Given the description of an element on the screen output the (x, y) to click on. 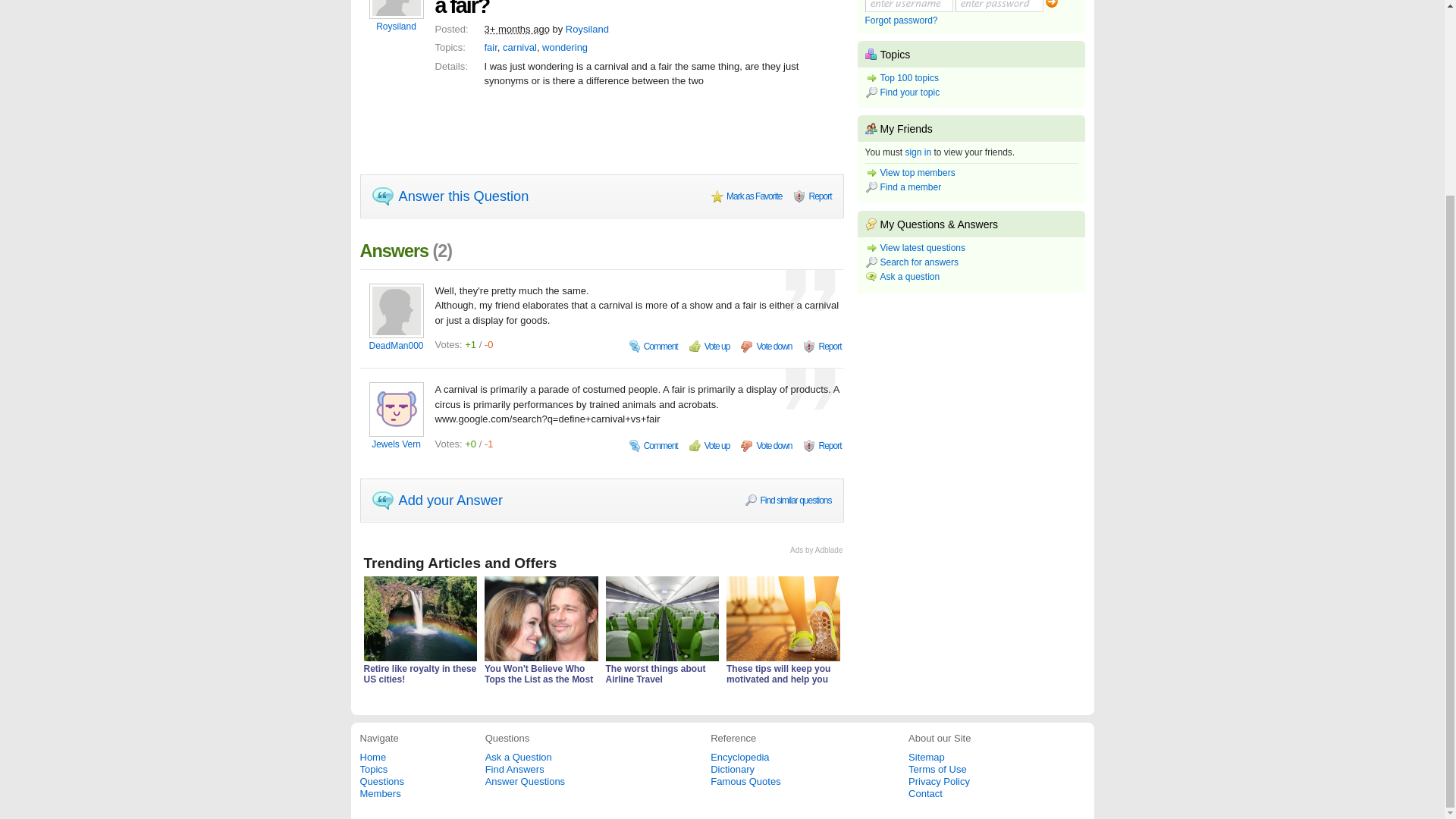
Roysiland (587, 28)
Report (822, 445)
Advertisement (601, 140)
Ads by Adblade (816, 550)
Vote down (766, 346)
5 May 2016 8:25am (515, 28)
Report (812, 195)
Retire like royalty in these US cities! (420, 673)
Add your Answer (436, 499)
carnival (519, 47)
Comment (653, 346)
Mark as Favorite (746, 195)
Vote down (766, 445)
Comment (653, 445)
Report (822, 346)
